Given the description of an element on the screen output the (x, y) to click on. 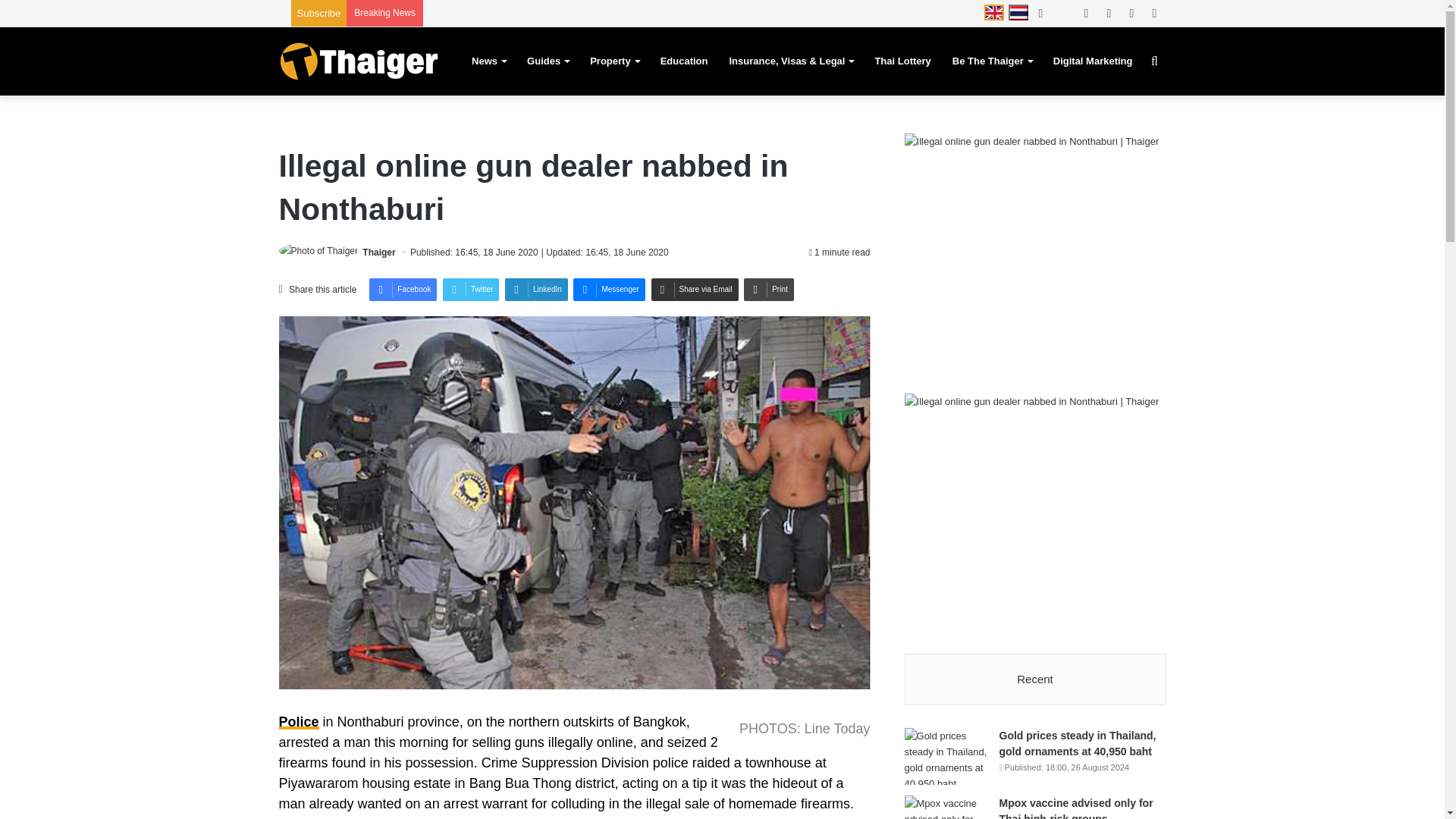
LinkedIn (536, 289)
Facebook (402, 289)
Thaiger (378, 252)
Print (768, 289)
Subscribe (318, 12)
Messenger (609, 289)
Share via Email (694, 289)
Crime (298, 721)
Twitter (470, 289)
Thaiger (358, 60)
